Given the description of an element on the screen output the (x, y) to click on. 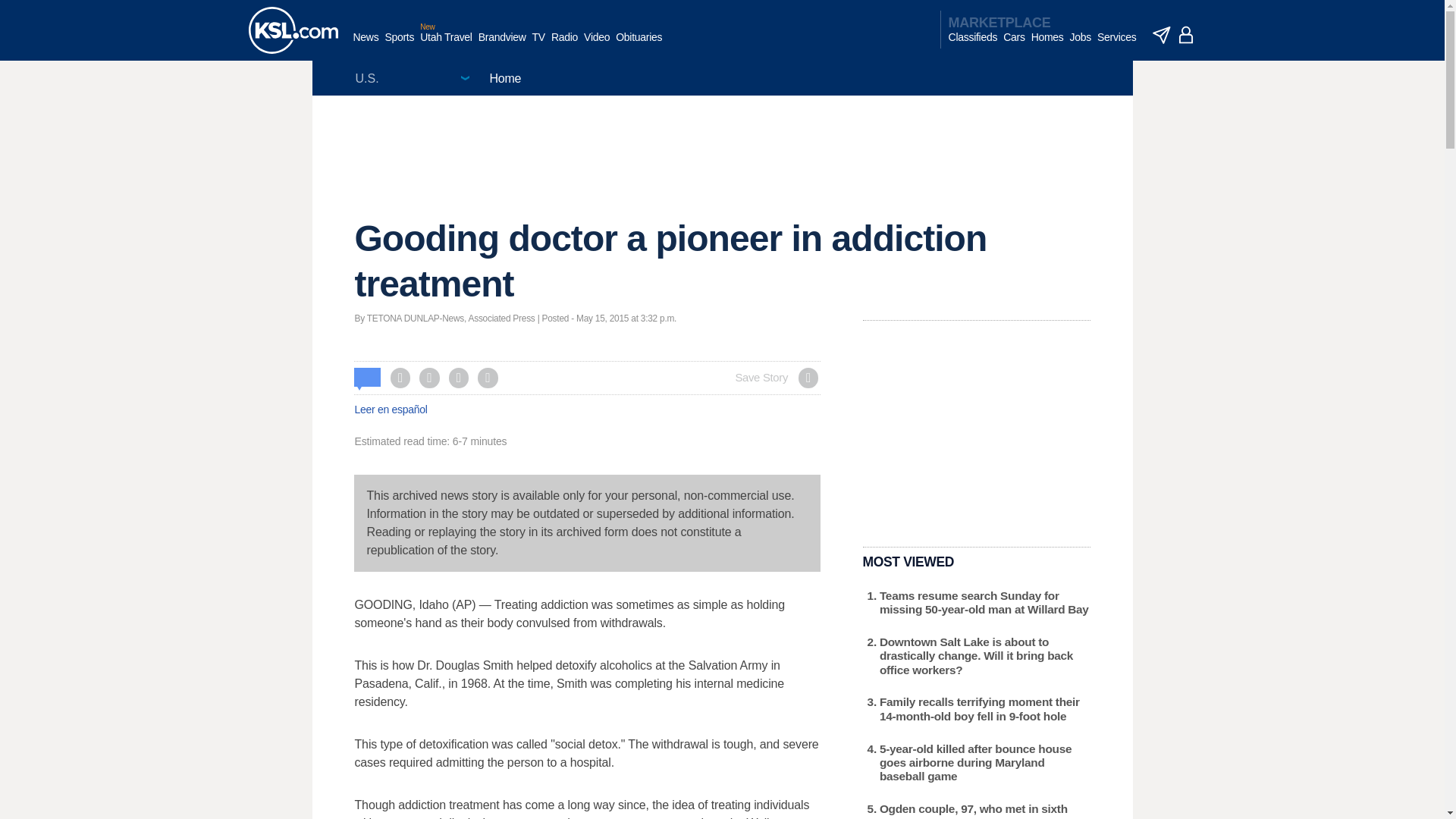
KSL homepage (292, 29)
Utah Travel (445, 45)
Brandview (502, 45)
KSL homepage (292, 30)
account - logged out (1185, 34)
Sports (398, 45)
